Given the description of an element on the screen output the (x, y) to click on. 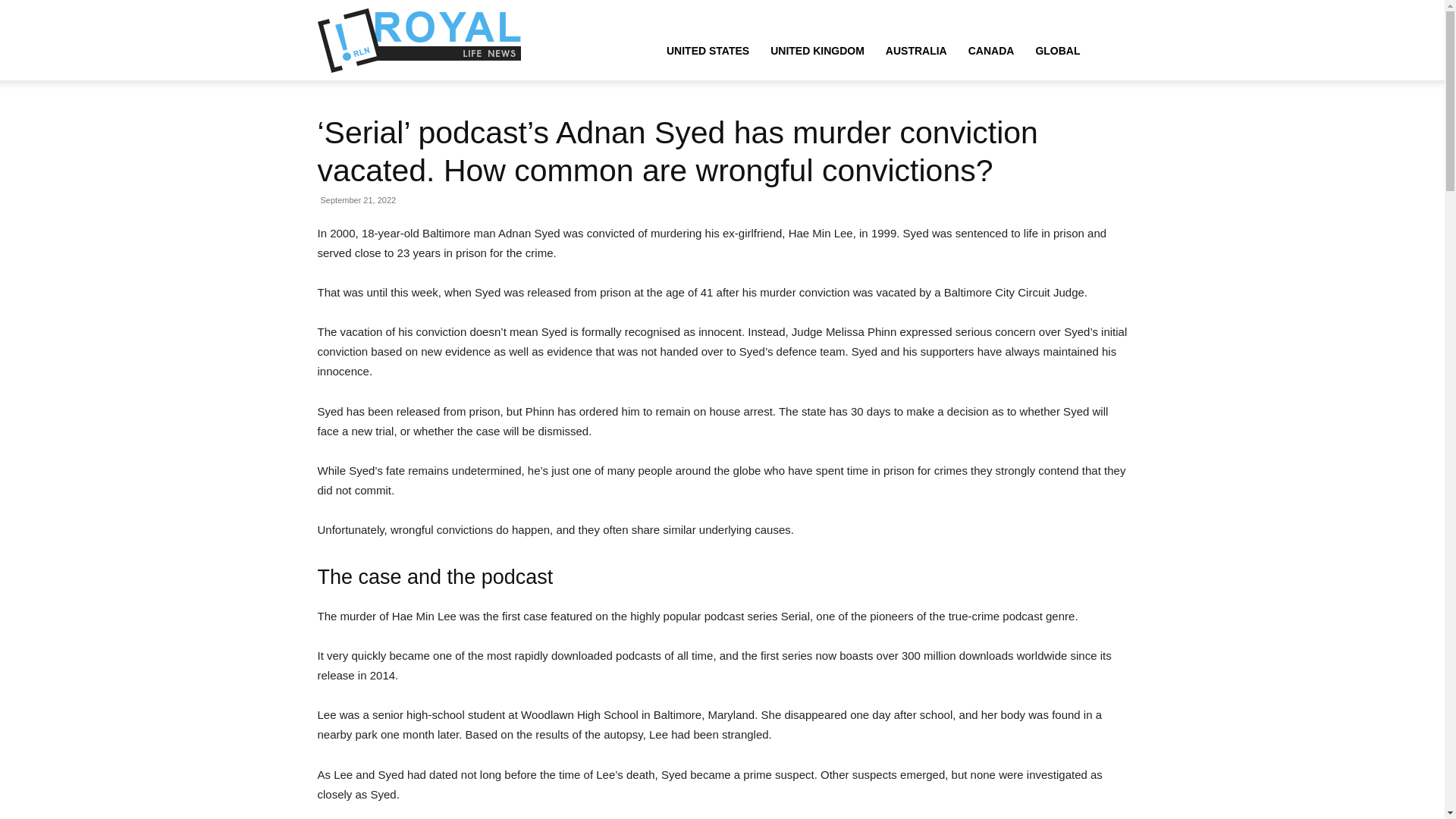
CANADA (991, 50)
UNITED STATES (708, 50)
Royal Life News (419, 39)
UNITED KINGDOM (817, 50)
AUSTRALIA (916, 50)
GLOBAL (1057, 50)
